Given the description of an element on the screen output the (x, y) to click on. 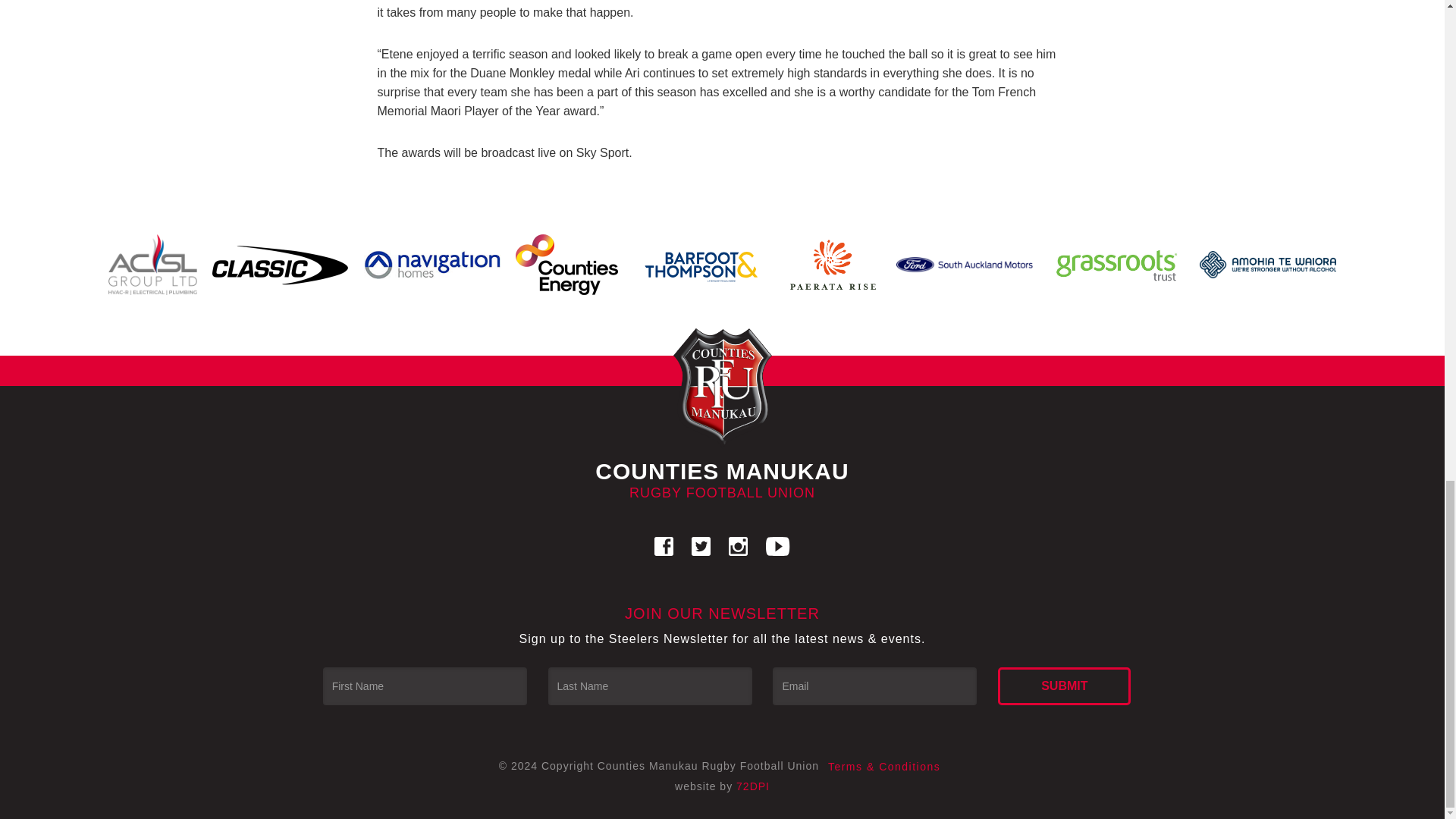
South Auckland Motors (964, 263)
Classic Sportsware (280, 265)
Grassroots Trust (1116, 264)
amohia-te-waiora (1267, 263)
Navigational Homes (432, 264)
Counties Power (567, 264)
ACSL Group (152, 264)
Paerata Rise (832, 264)
